Given the description of an element on the screen output the (x, y) to click on. 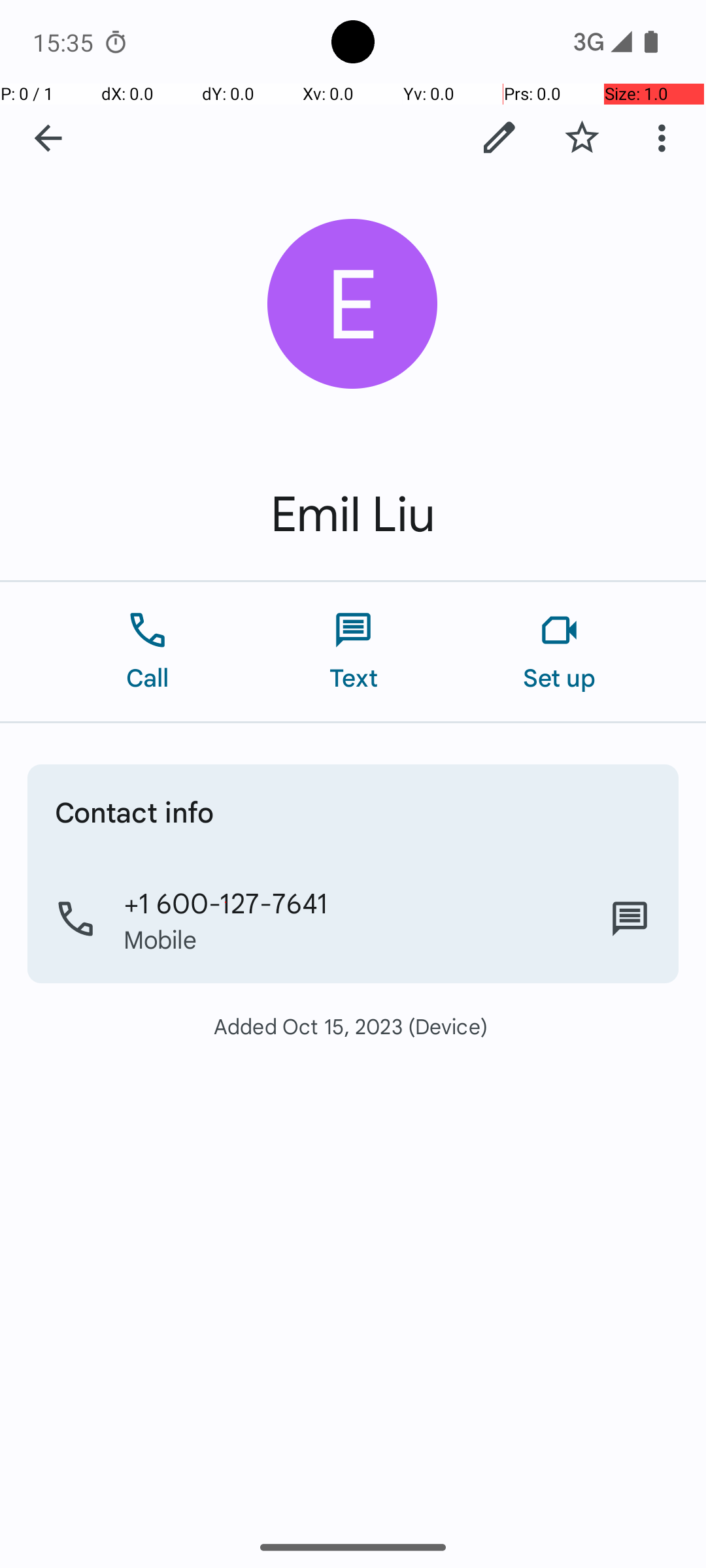
Call Mobile +1 600-127-7641 Element type: android.widget.RelativeLayout (352, 919)
Added Oct 15, 2023 (Device)  Element type: android.widget.TextView (352, 1025)
+1 600-127-7641 Element type: android.widget.TextView (225, 901)
Text Mobile +1 600-127-7641 Element type: android.widget.Button (629, 919)
